Given the description of an element on the screen output the (x, y) to click on. 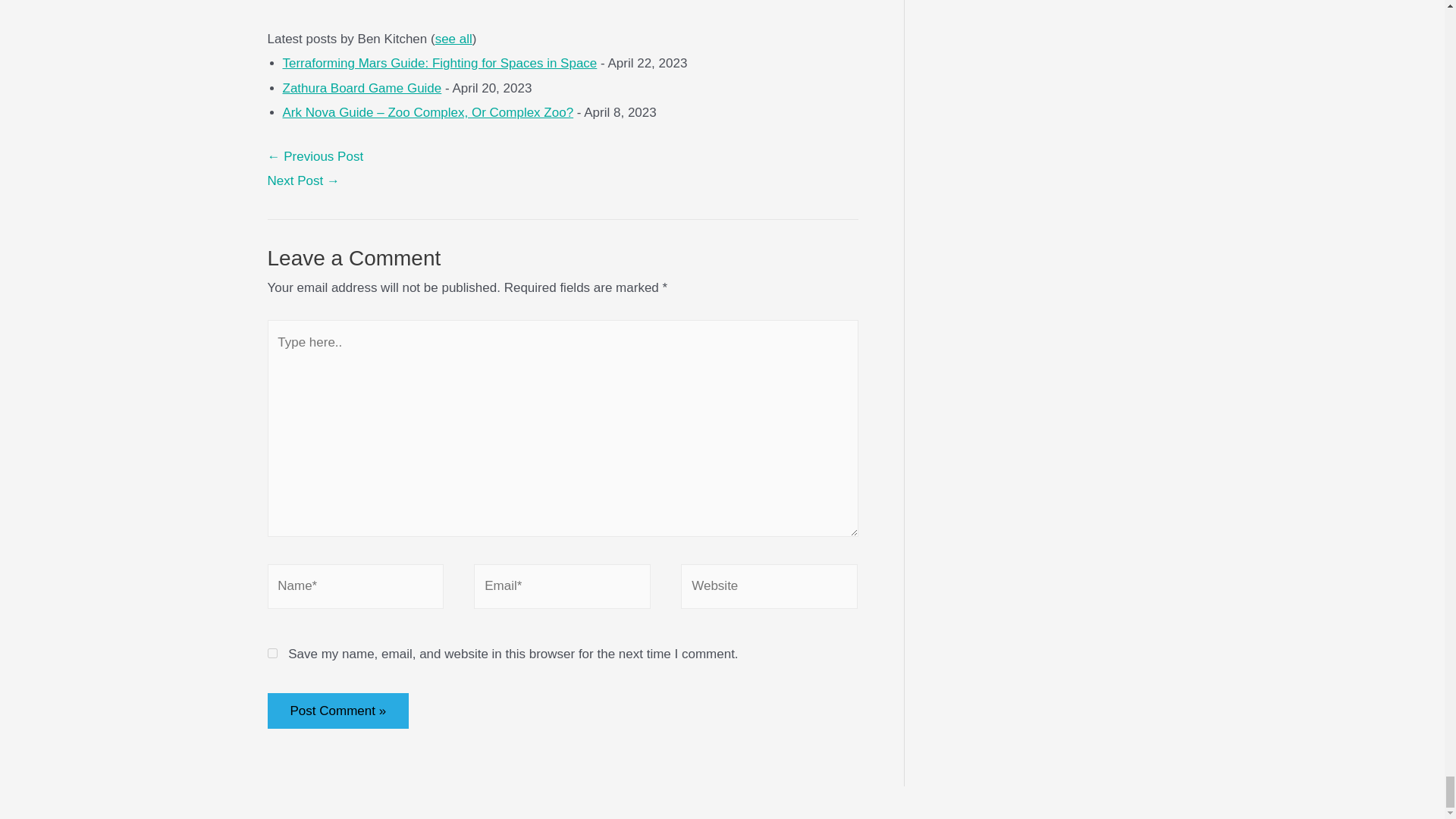
yes (271, 653)
Ben Kitchen (361, 14)
Best Deck Building Games (302, 180)
Carcassonne Board Game Guide: Competitive Map Building (314, 156)
